Given the description of an element on the screen output the (x, y) to click on. 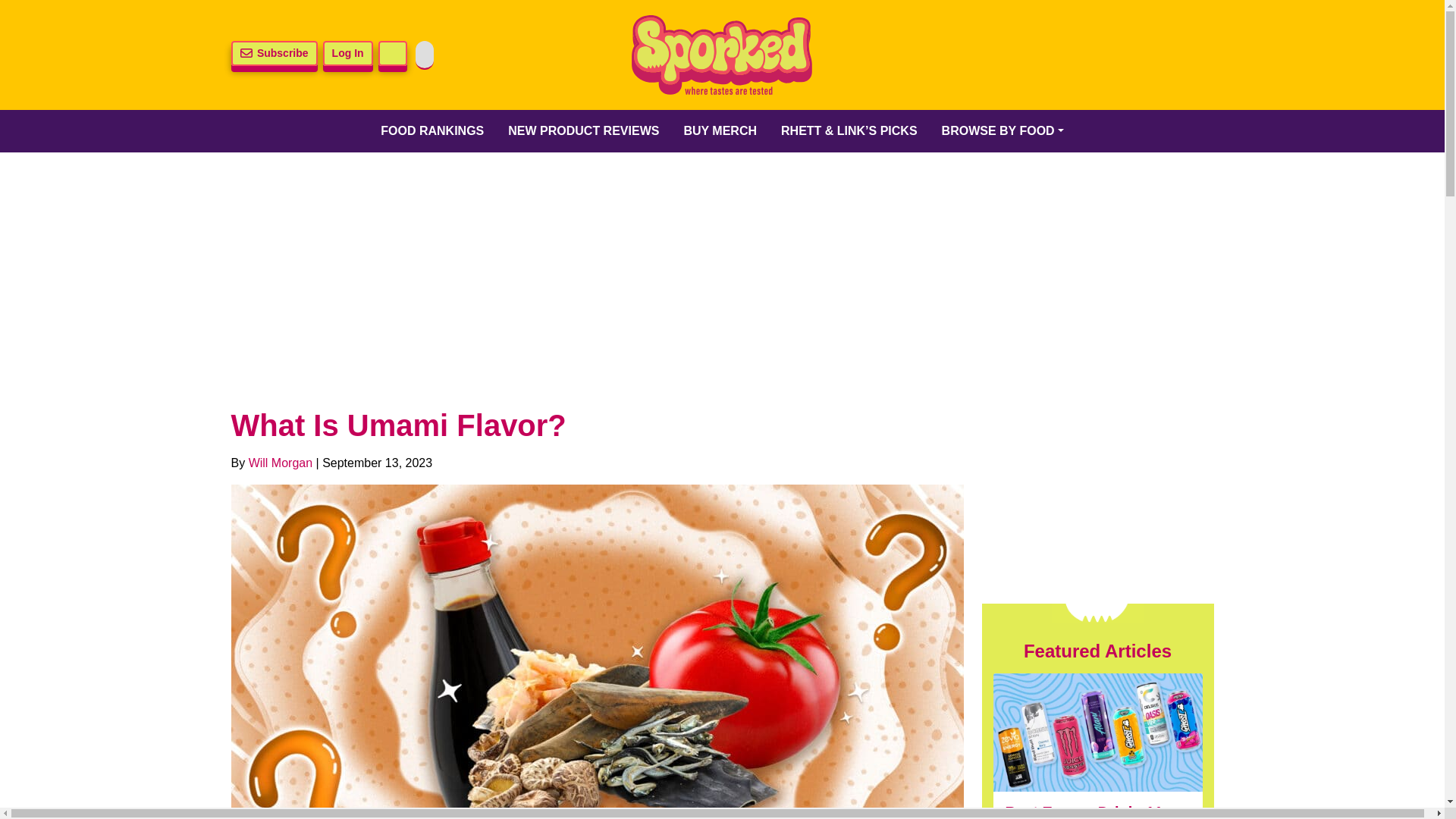
Flipboard, opens in new tab (1192, 54)
FOOD RANKINGS (432, 130)
Log In (347, 53)
BUY MERCH (719, 130)
NEW PRODUCT REVIEWS (583, 130)
BROWSE BY FOOD (1002, 130)
Posts by Will Morgan (280, 462)
YouTube, opens in new tab (1153, 54)
Subscribe (273, 53)
Instagram, opens in new tab (1074, 54)
Tiktok, opens in new tab (1114, 54)
Twitter, opens in new tab (996, 54)
Facebook, opens in new tab (1035, 54)
Search (392, 53)
